Given the description of an element on the screen output the (x, y) to click on. 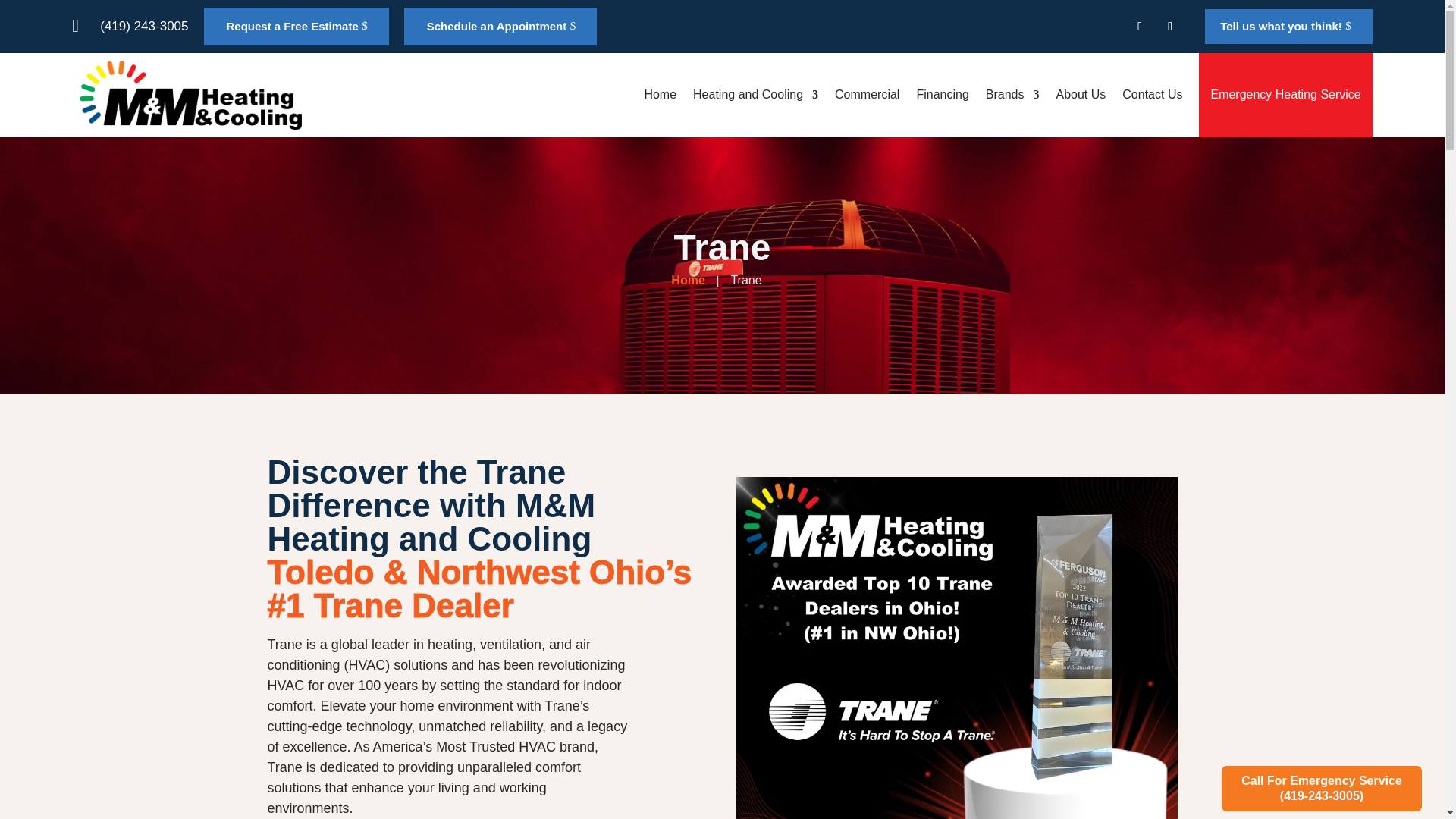
Emergency Heating Service (1284, 95)
Heating and Cooling (755, 95)
Follow on Instagram (1169, 26)
Follow on Facebook (1138, 26)
Schedule an Appointment (500, 26)
Request a Free Estimate (295, 26)
Tell us what you think! (1289, 26)
